Given the description of an element on the screen output the (x, y) to click on. 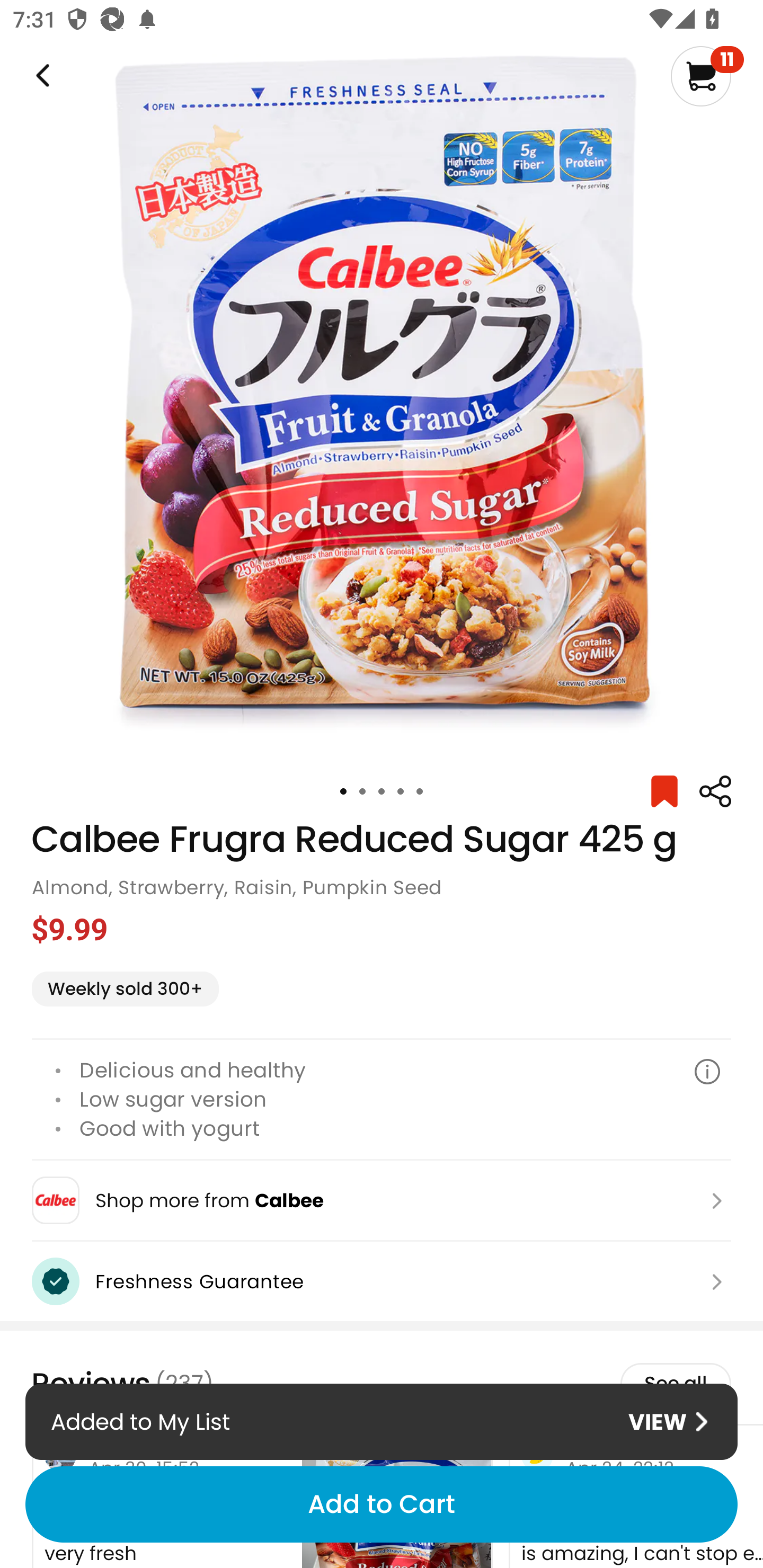
Weee! (41, 75)
11 (706, 75)
Weee! (714, 791)
Shop more from Calbee Weee! (381, 1200)
Freshness Guarantee (381, 1281)
Added to My List VIEW (381, 1420)
VIEW (667, 1421)
Add to Cart (381, 1504)
Add to Cart (381, 1504)
